Given the description of an element on the screen output the (x, y) to click on. 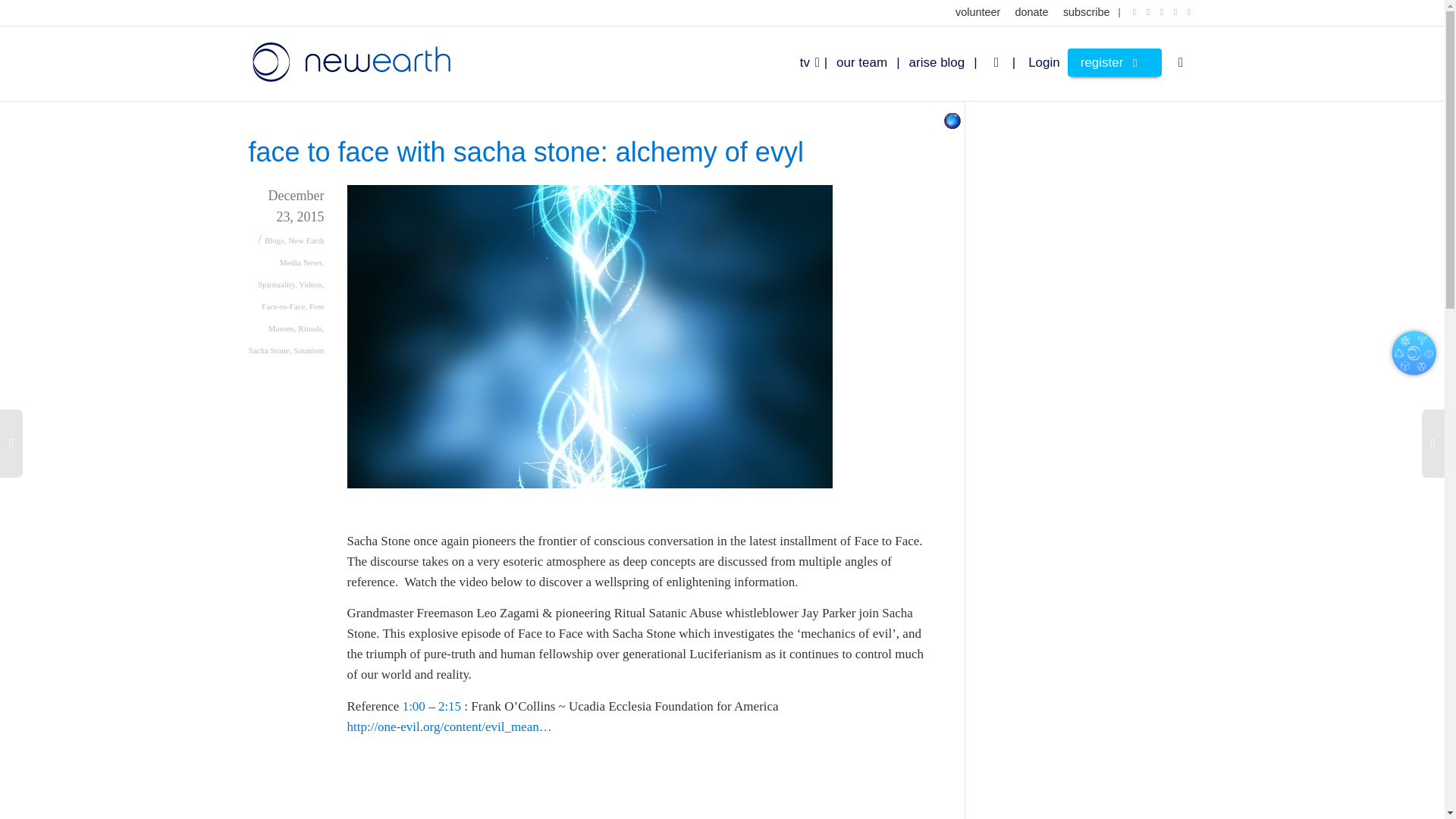
New Earth Media News (301, 250)
Satanism (308, 349)
Sacha Stone (268, 349)
December 23, 2015 (286, 217)
Face-to-Face (283, 306)
Videos (309, 284)
donate (1031, 12)
Rituals (309, 327)
2:15 (449, 706)
volunteer (977, 12)
